Given the description of an element on the screen output the (x, y) to click on. 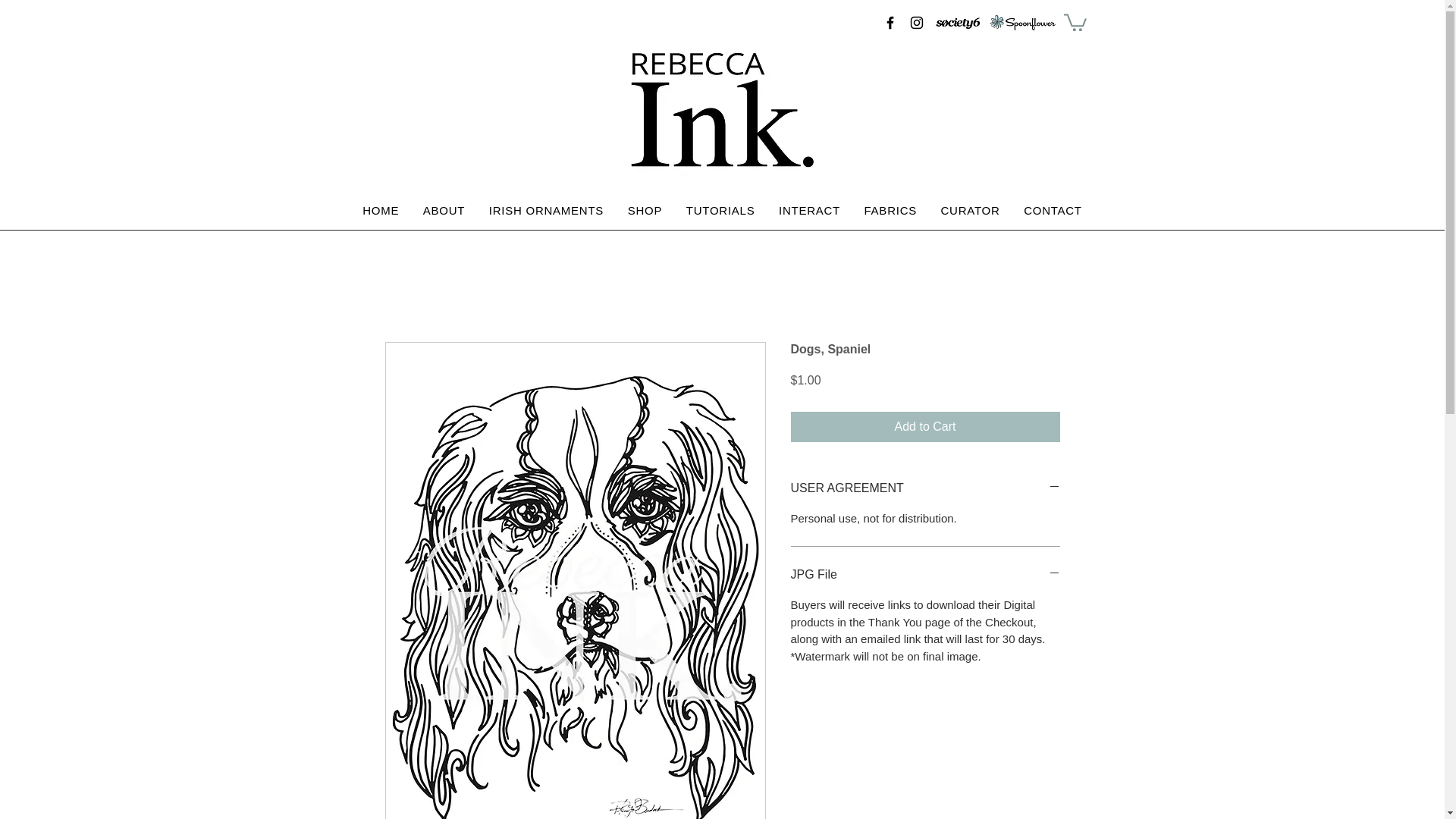
FABRICS (889, 210)
CONTACT (1052, 210)
Add to Cart (924, 426)
TUTORIALS (720, 210)
SHOP (644, 210)
IRISH ORNAMENTS (546, 210)
INTERACT (809, 210)
CURATOR (969, 210)
ABOUT (443, 210)
JPG File (924, 574)
HOME (380, 210)
USER AGREEMENT (924, 487)
